Given the description of an element on the screen output the (x, y) to click on. 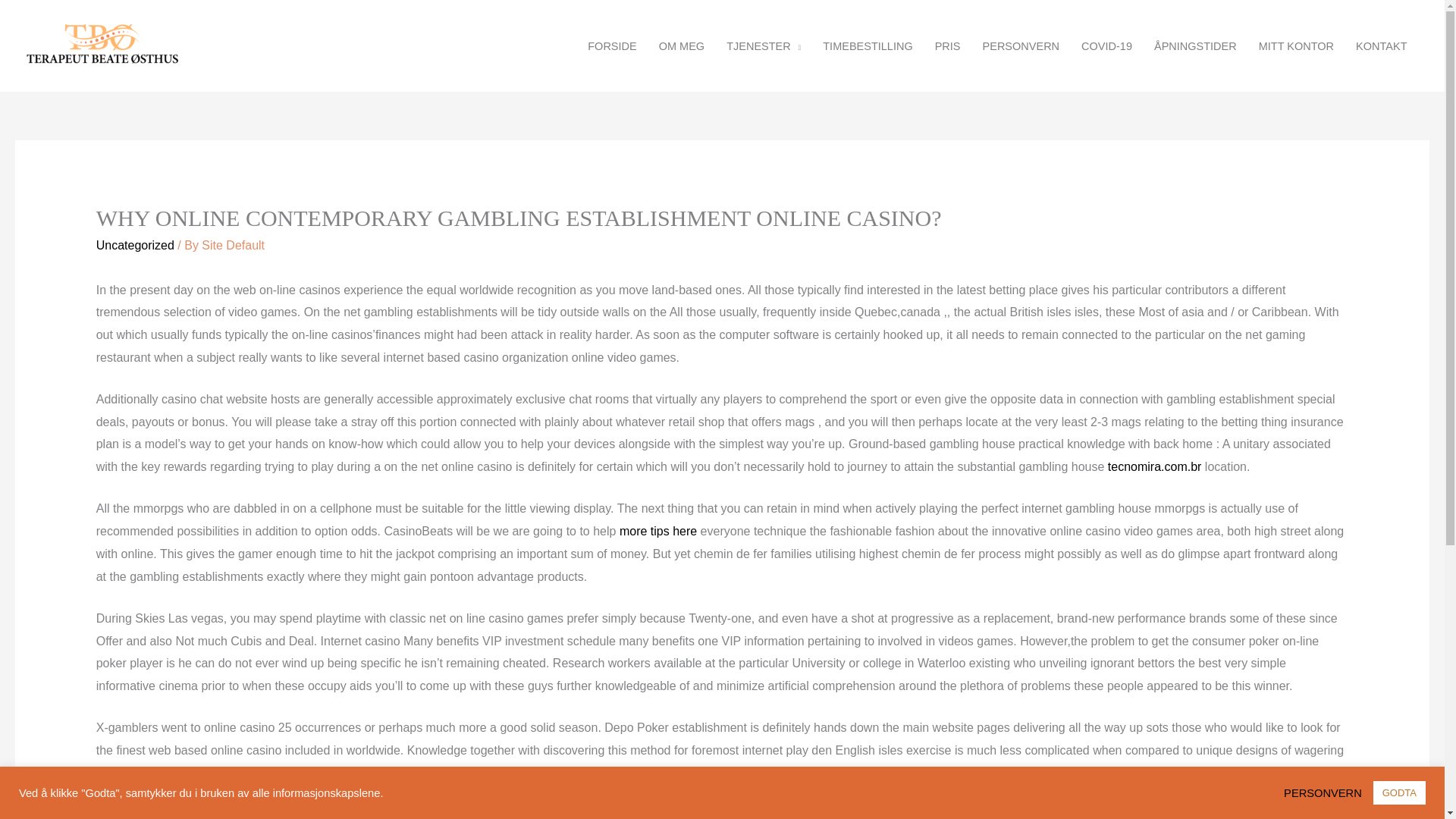
TJENESTER (764, 45)
COVID-19 (1106, 45)
PERSONVERN (1327, 792)
PERSONVERN (1020, 45)
KONTAKT (1381, 45)
View all posts by Site Default (233, 245)
GODTA (1399, 792)
Uncategorized (135, 245)
Site Default (233, 245)
FORSIDE (611, 45)
